Given the description of an element on the screen output the (x, y) to click on. 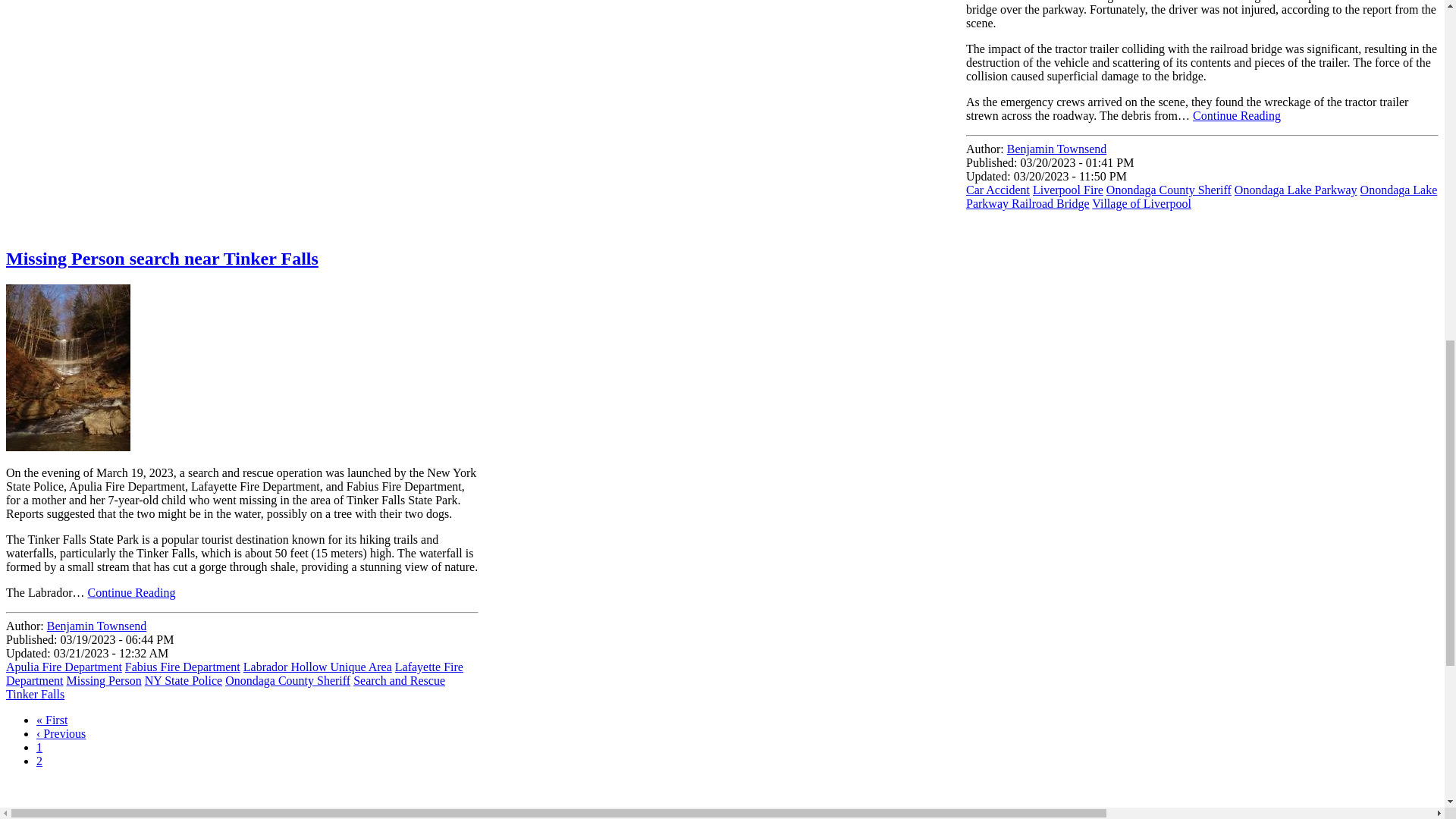
Lafayette Fire Department (234, 673)
Labrador Hollow Unique Area (317, 666)
Continue Reading (1236, 115)
Benjamin Townsend (1056, 148)
Fabius Fire Department (182, 666)
Go to previous page (60, 733)
Go to first page (51, 719)
Apulia Fire Department (63, 666)
Onondaga Lake Parkway (1295, 189)
Onondaga County Sheriff (1168, 189)
Liverpool Fire (1067, 189)
Onondaga Lake Parkway Railroad Bridge (1201, 196)
Village of Liverpool (1141, 203)
Missing Person (103, 680)
